Given the description of an element on the screen output the (x, y) to click on. 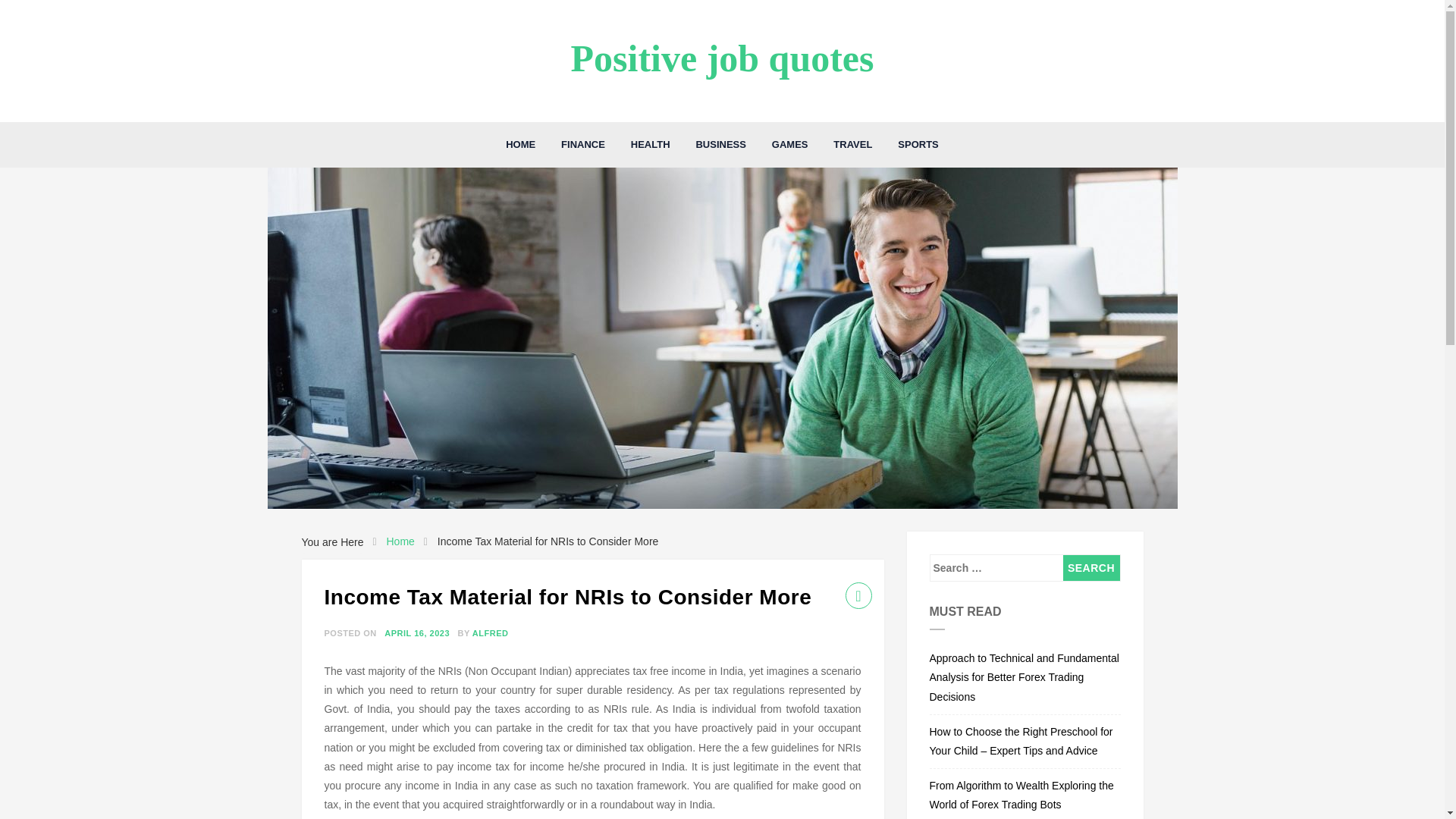
GAMES (789, 144)
BUSINESS (720, 144)
Home (399, 541)
Positive job quotes (721, 57)
Search (1090, 567)
HEALTH (650, 144)
APRIL 16, 2023 (416, 633)
FINANCE (582, 144)
Search (1090, 567)
